Given the description of an element on the screen output the (x, y) to click on. 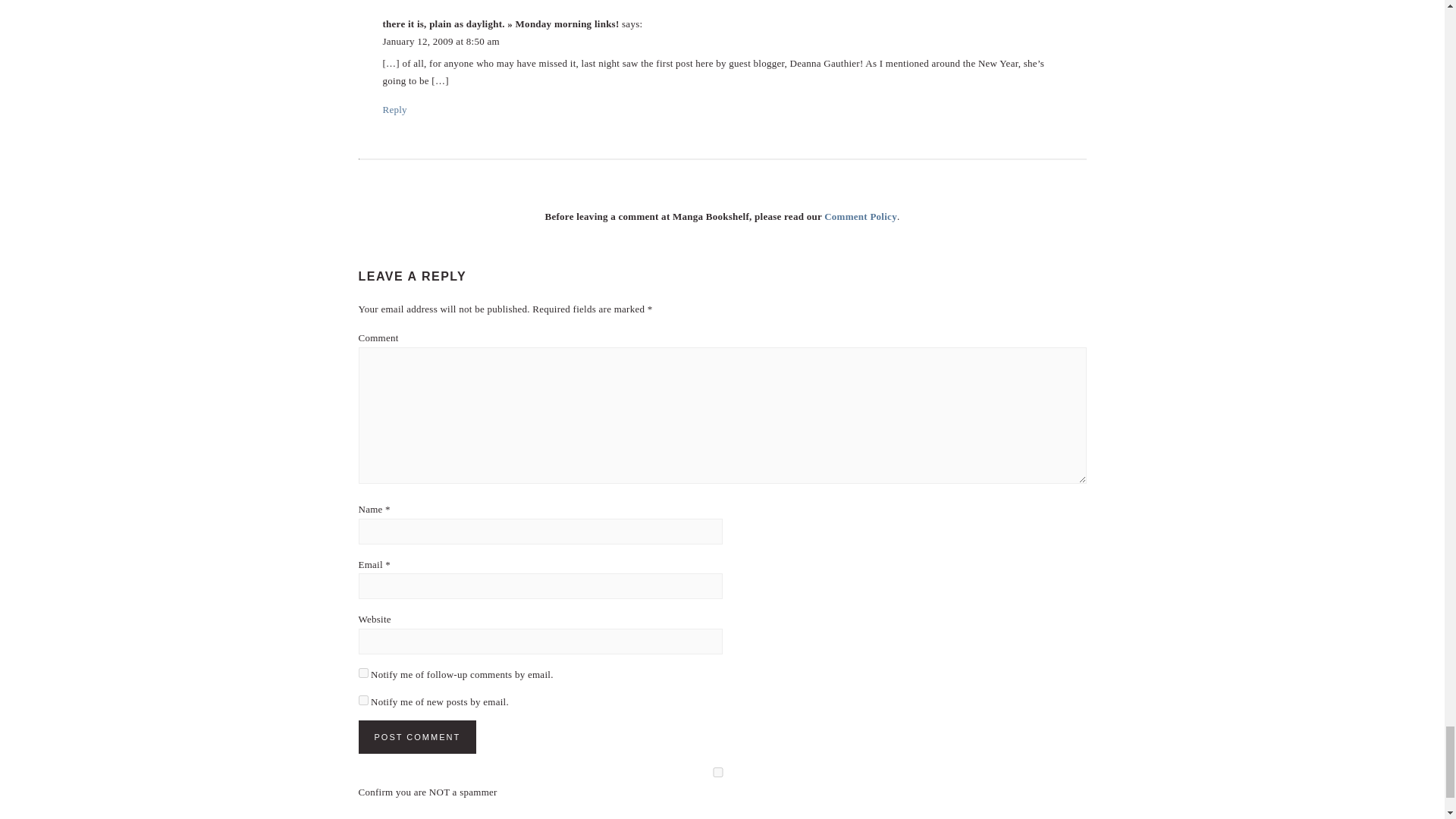
subscribe (363, 700)
Post Comment (417, 736)
subscribe (363, 672)
on (717, 772)
